Given the description of an element on the screen output the (x, y) to click on. 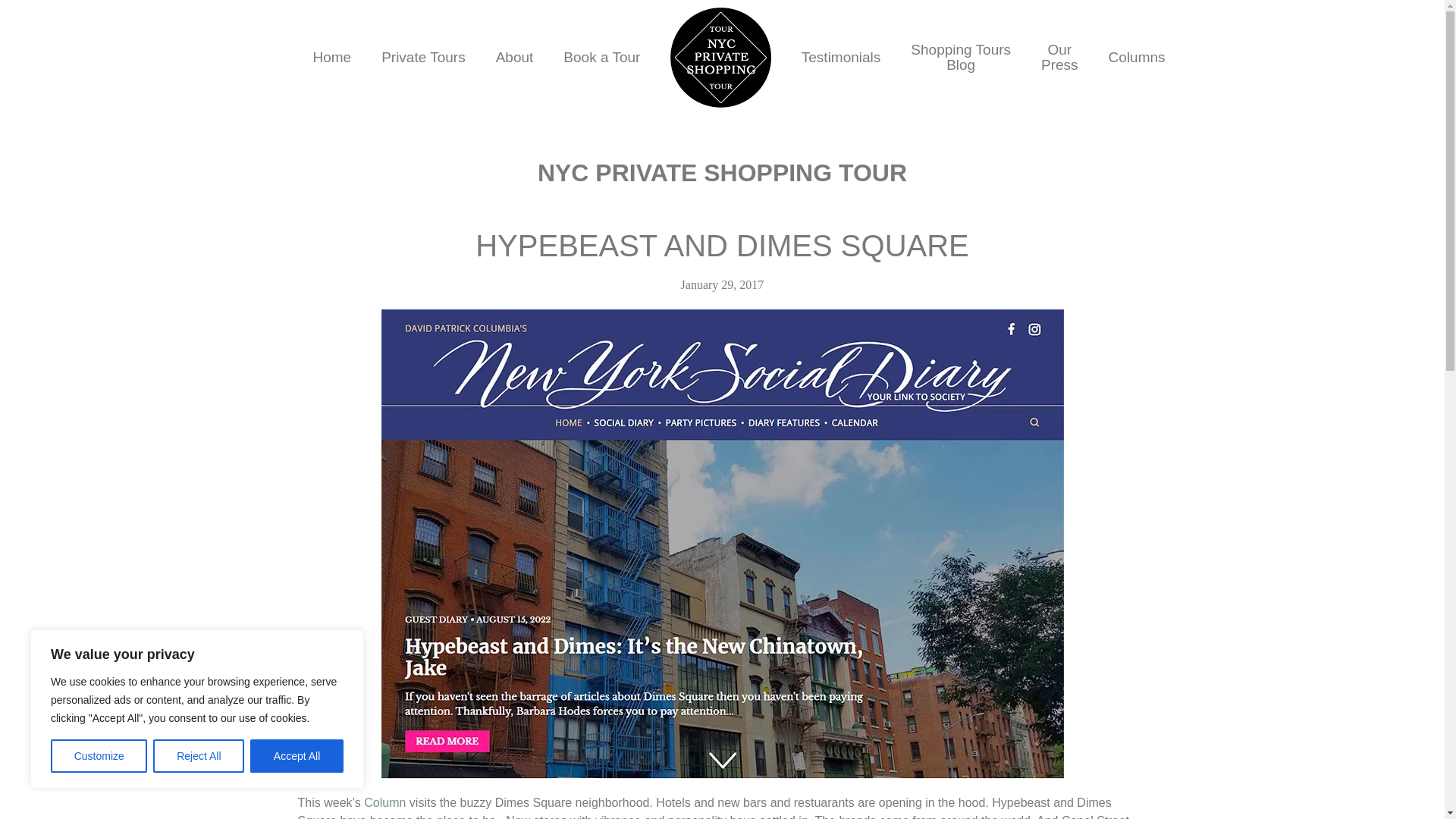
Customize (98, 756)
Testimonials (841, 57)
Columns (960, 57)
About (1059, 57)
Accept All (1136, 57)
Home (514, 57)
Reject All (296, 756)
Private Tours (331, 57)
Book a Tour (198, 756)
